Given the description of an element on the screen output the (x, y) to click on. 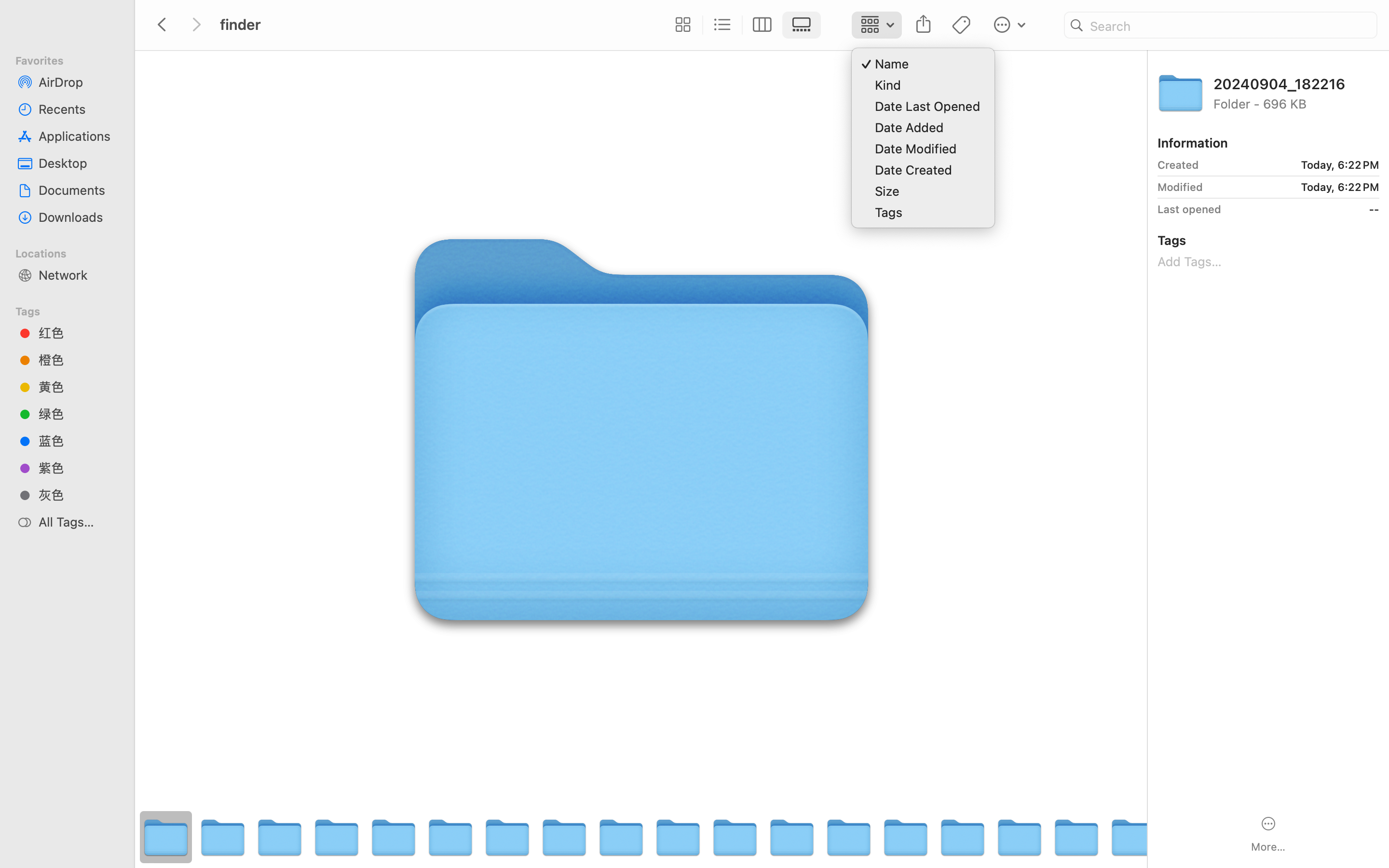
Downloads Element type: AXStaticText (77, 216)
finder Element type: AXStaticText (437, 827)
Tags Element type: AXStaticText (72, 309)
橙色 Element type: AXStaticText (77, 359)
绿色 Element type: AXStaticText (77, 413)
